Given the description of an element on the screen output the (x, y) to click on. 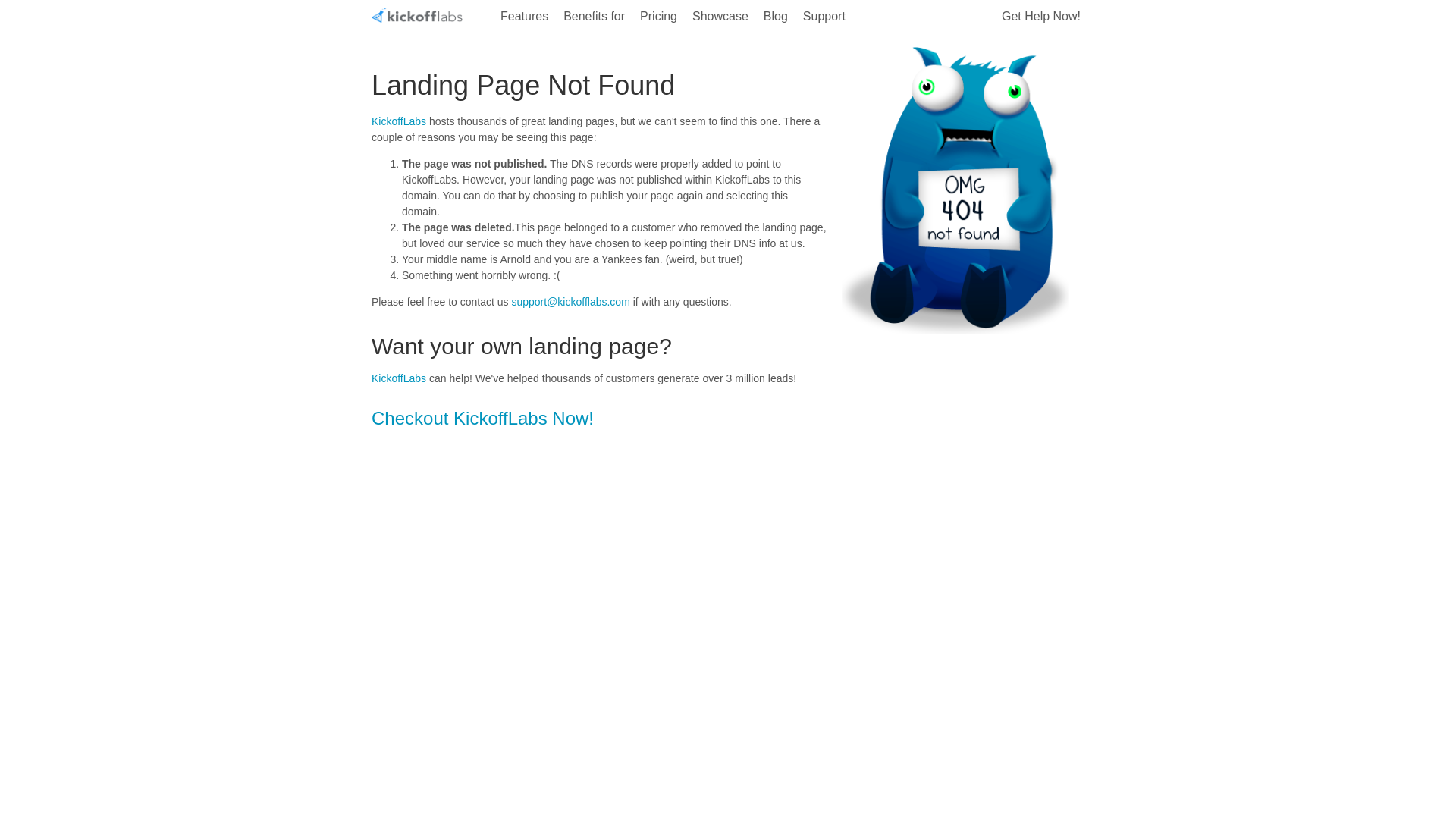
Support Element type: text (824, 16)
Showcase Element type: text (720, 16)
Blog Element type: text (775, 16)
Benefits for Element type: text (593, 16)
KickoffLabs Element type: text (398, 378)
Pricing Element type: text (658, 16)
Checkout KickoffLabs Now! Element type: text (482, 417)
Features Element type: text (523, 16)
KickoffLabs Element type: text (417, 14)
Get Help Now! Element type: text (1040, 15)
KickoffLabs Element type: text (398, 121)
support@kickofflabs.com Element type: text (570, 301)
